Given the description of an element on the screen output the (x, y) to click on. 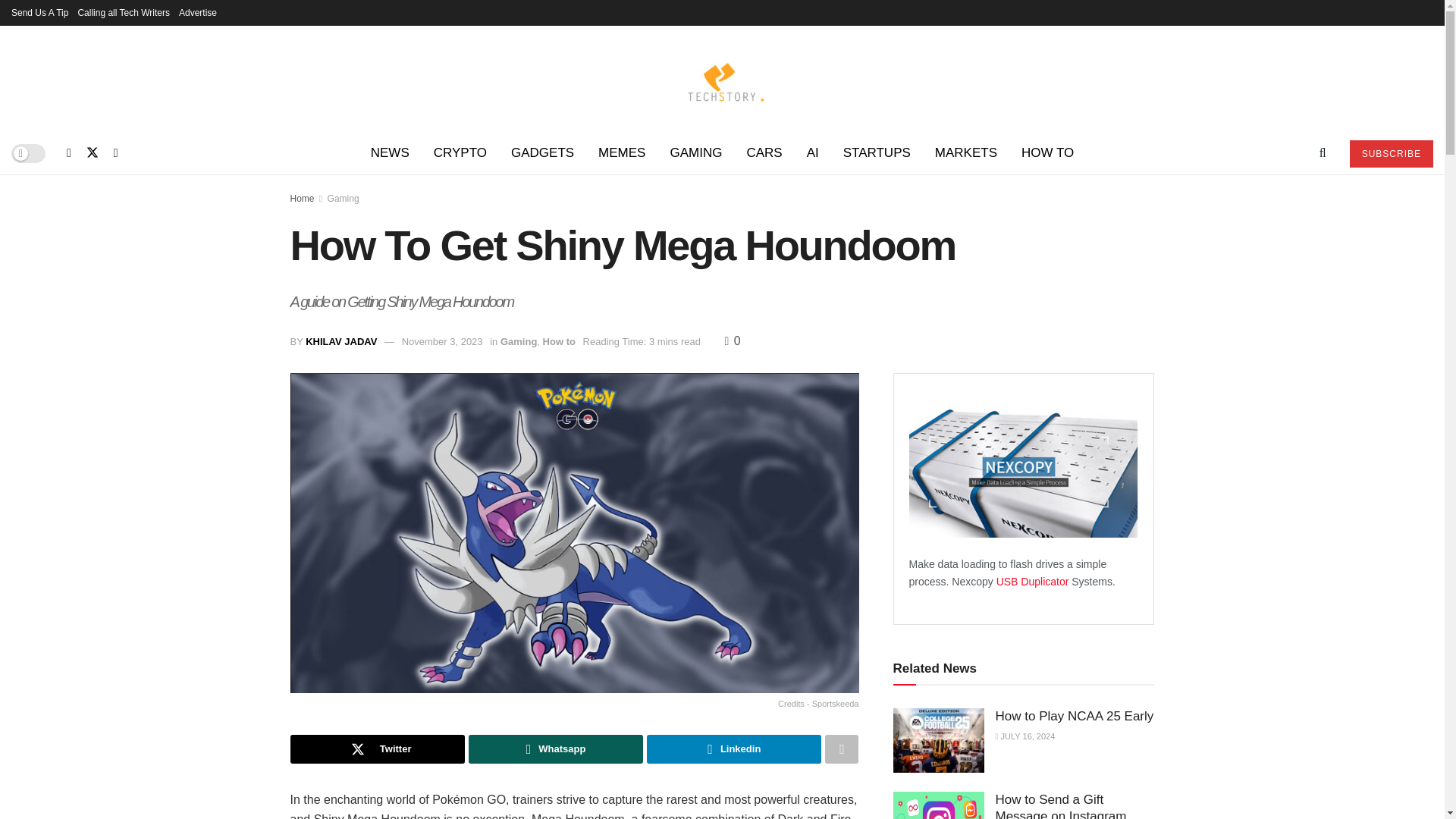
CRYPTO (460, 152)
USB duplicator (1033, 581)
MARKETS (966, 152)
MEMES (622, 152)
HOW TO (1047, 152)
NEWS (390, 152)
SUBSCRIBE (1390, 153)
Calling all Tech Writers (123, 12)
Home (301, 198)
Advertise (197, 12)
GAMING (695, 152)
GADGETS (542, 152)
KHILAV JADAV (341, 341)
Send Us A Tip (39, 12)
Gaming (343, 198)
